Given the description of an element on the screen output the (x, y) to click on. 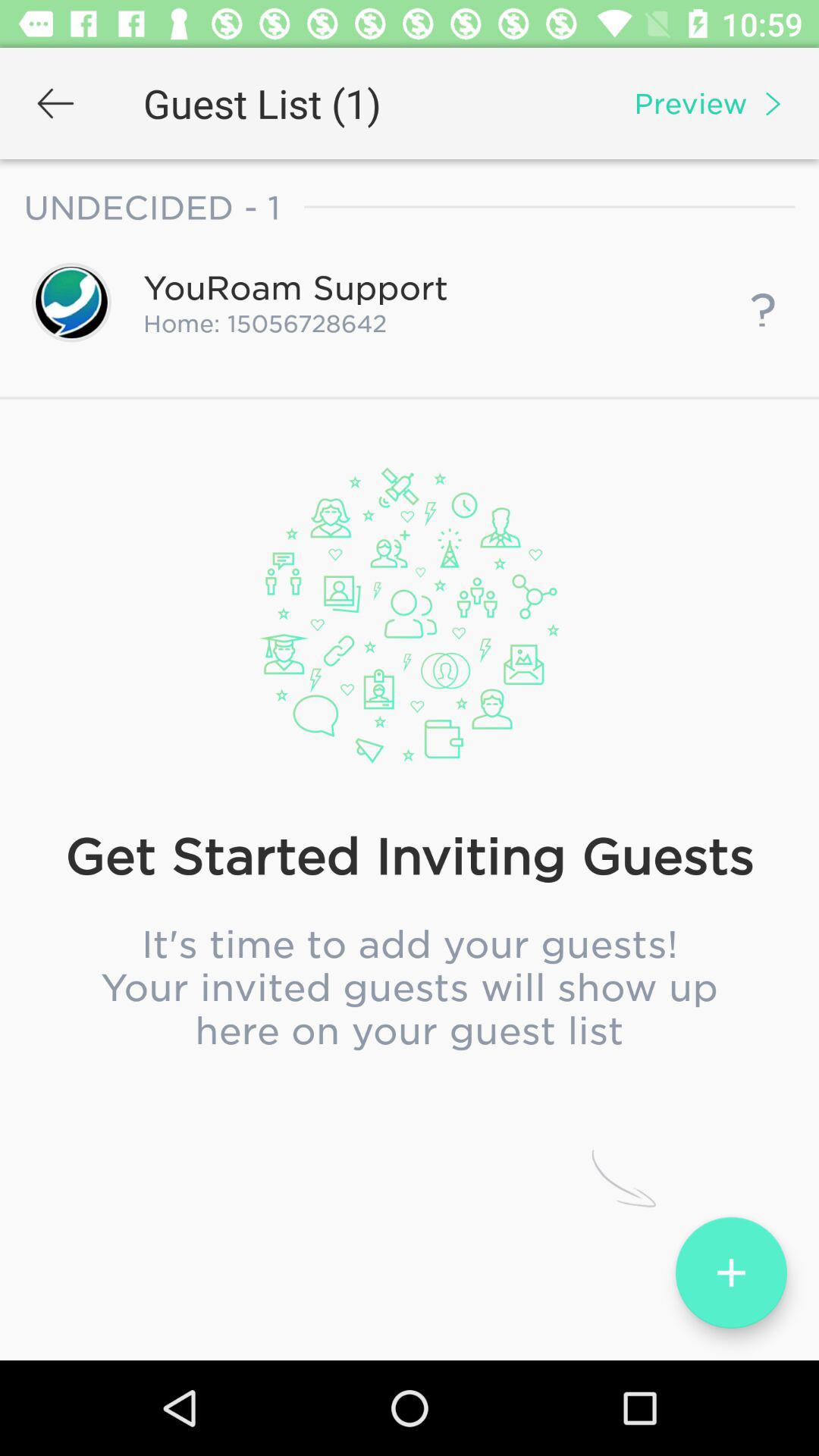
swipe until hawaii - hst icon (409, 777)
